Given the description of an element on the screen output the (x, y) to click on. 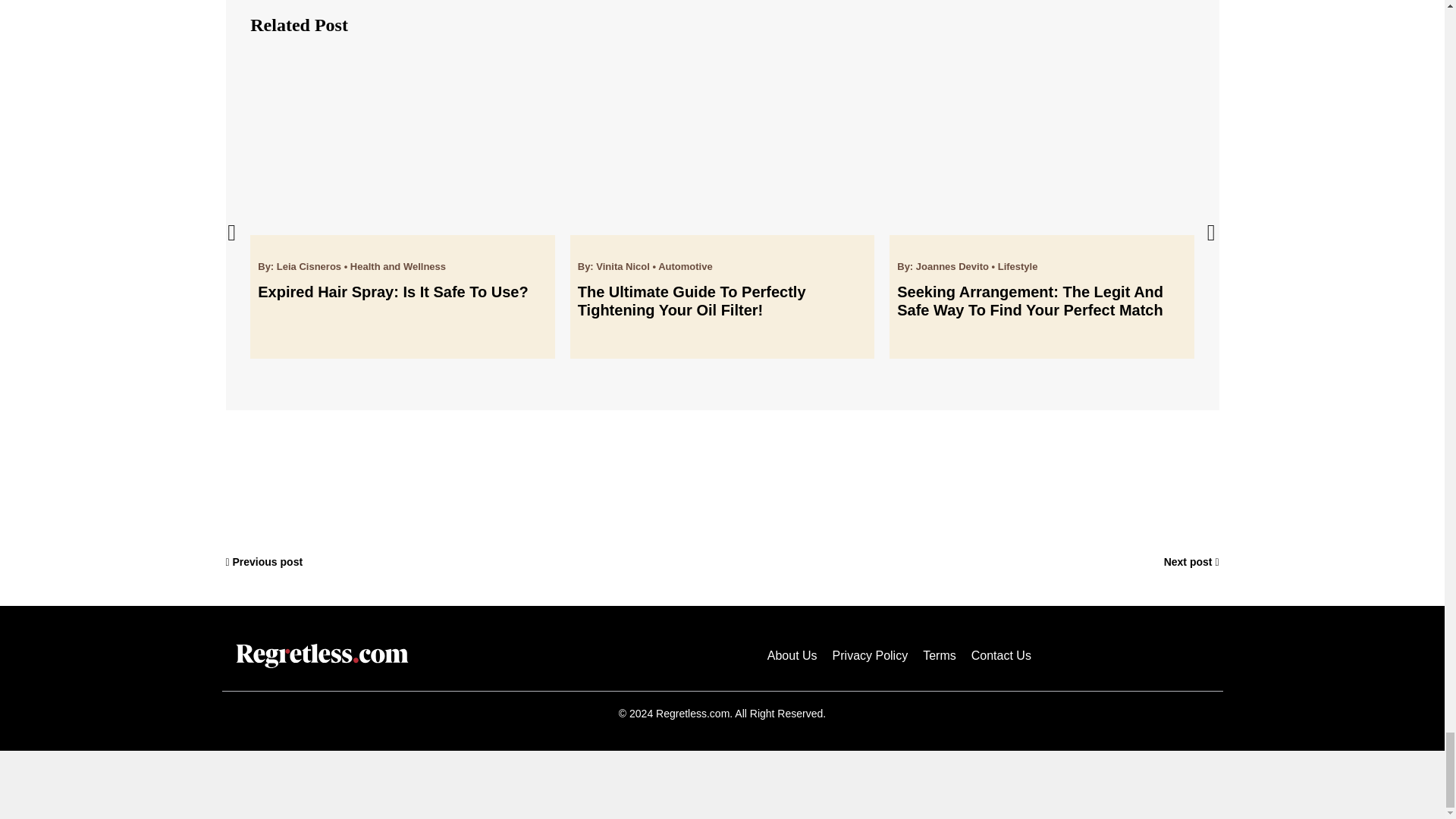
Regretless (322, 655)
